Given the description of an element on the screen output the (x, y) to click on. 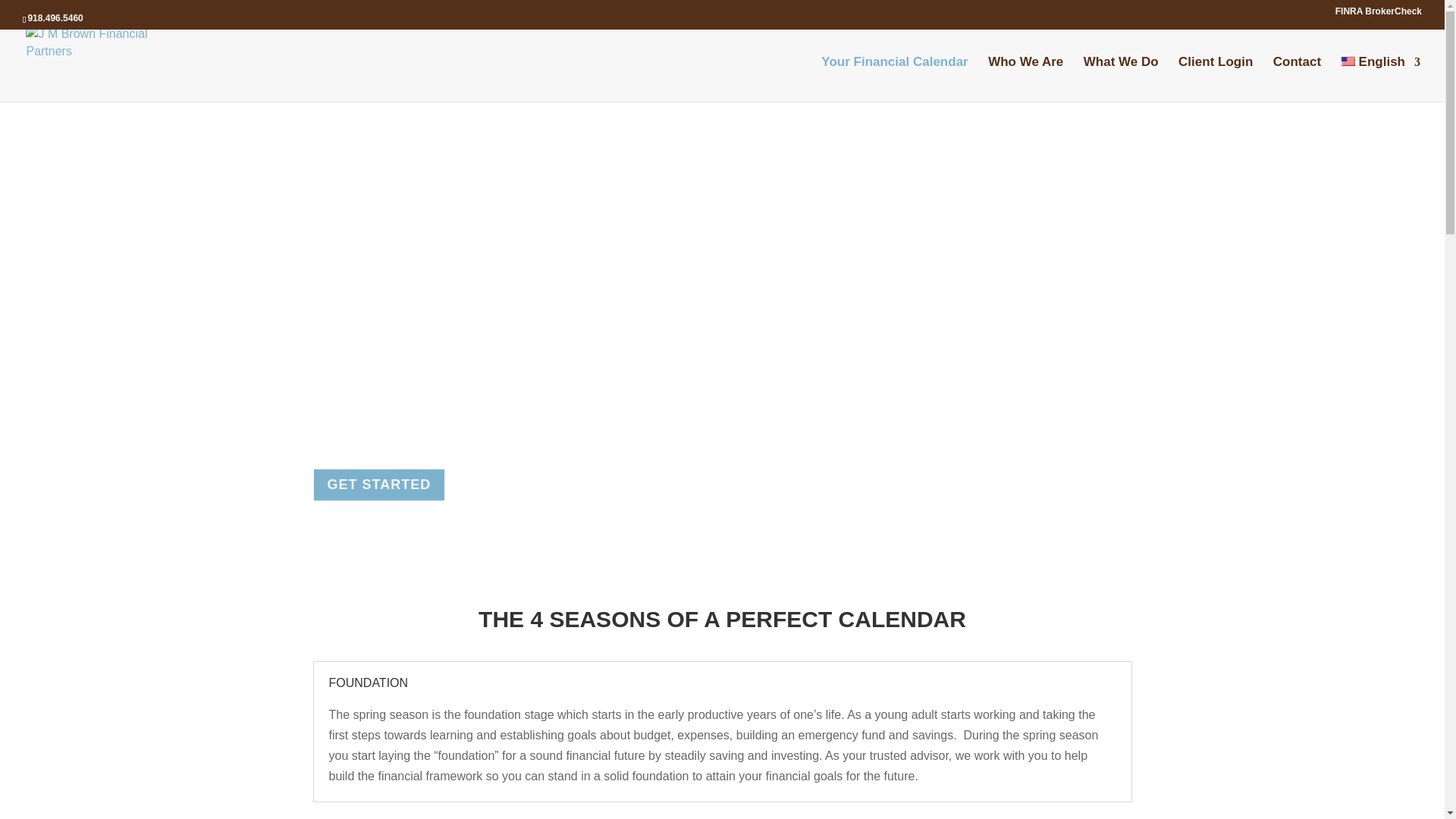
Your Financial Calendar (894, 78)
English (1380, 78)
Who We Are (1025, 78)
Contact (1296, 78)
What We Do (1120, 78)
English (1380, 78)
FINRA BrokerCheck (1378, 14)
GET STARTED (379, 484)
Client Login (1214, 78)
